Given the description of an element on the screen output the (x, y) to click on. 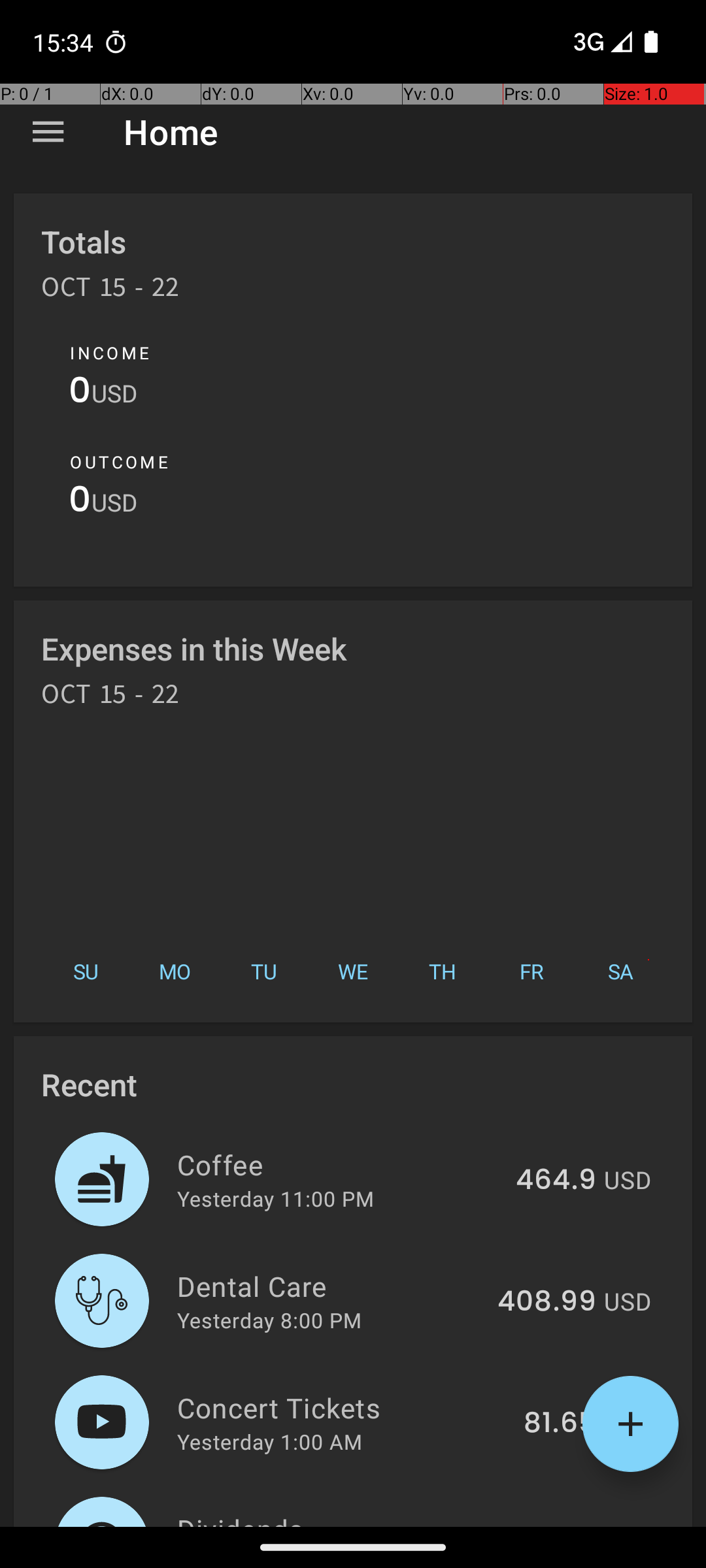
Coffee Element type: android.widget.TextView (338, 1164)
Yesterday 11:00 PM Element type: android.widget.TextView (275, 1198)
464.9 Element type: android.widget.TextView (555, 1180)
Yesterday 8:00 PM Element type: android.widget.TextView (269, 1320)
408.99 Element type: android.widget.TextView (546, 1301)
Concert Tickets Element type: android.widget.TextView (342, 1407)
Yesterday 1:00 AM Element type: android.widget.TextView (269, 1441)
81.65 Element type: android.widget.TextView (559, 1423)
Dividends Element type: android.widget.TextView (333, 1518)
485.18 Element type: android.widget.TextView (550, 1524)
